Given the description of an element on the screen output the (x, y) to click on. 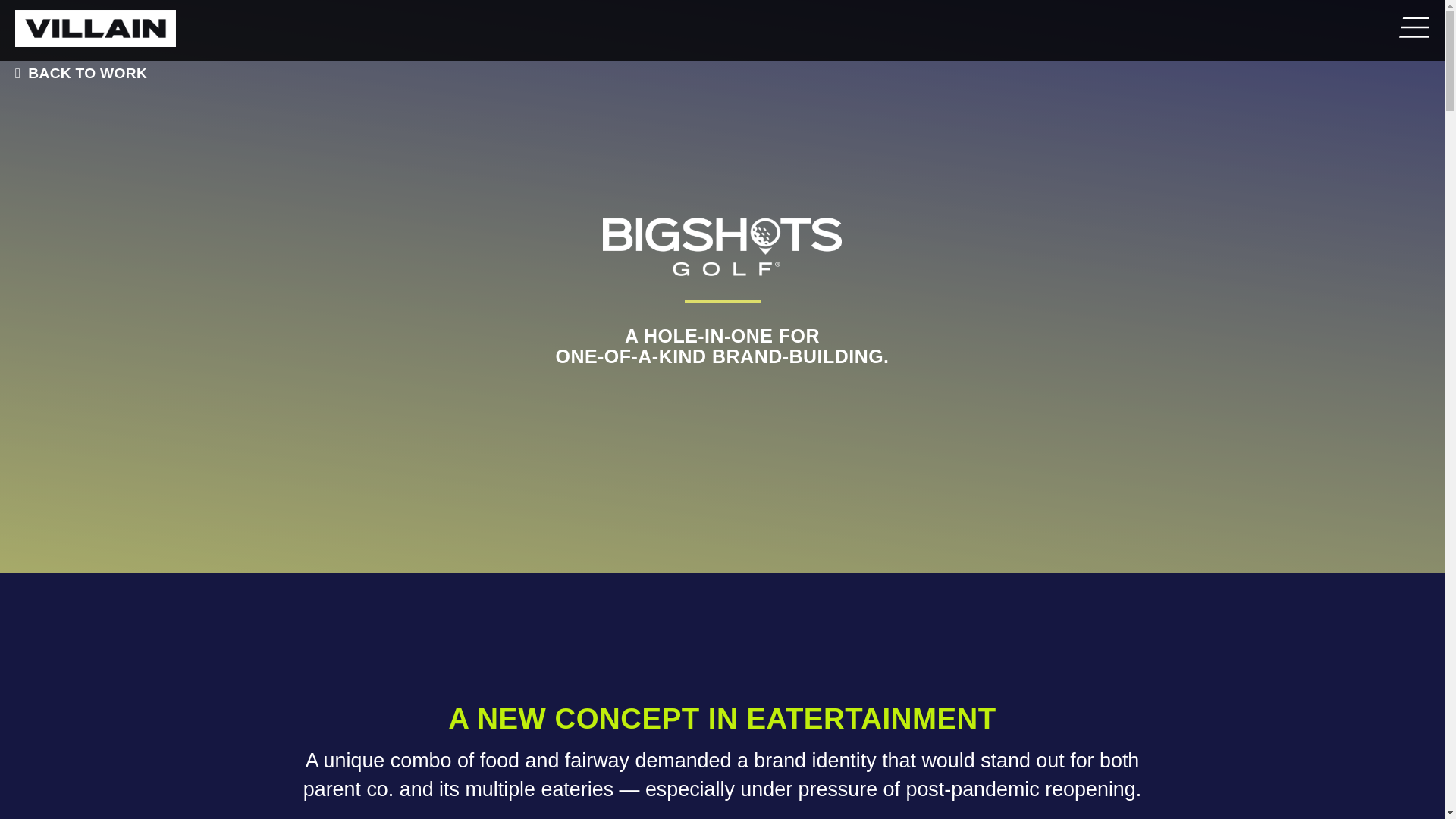
BACK TO WORK (77, 73)
